Given the description of an element on the screen output the (x, y) to click on. 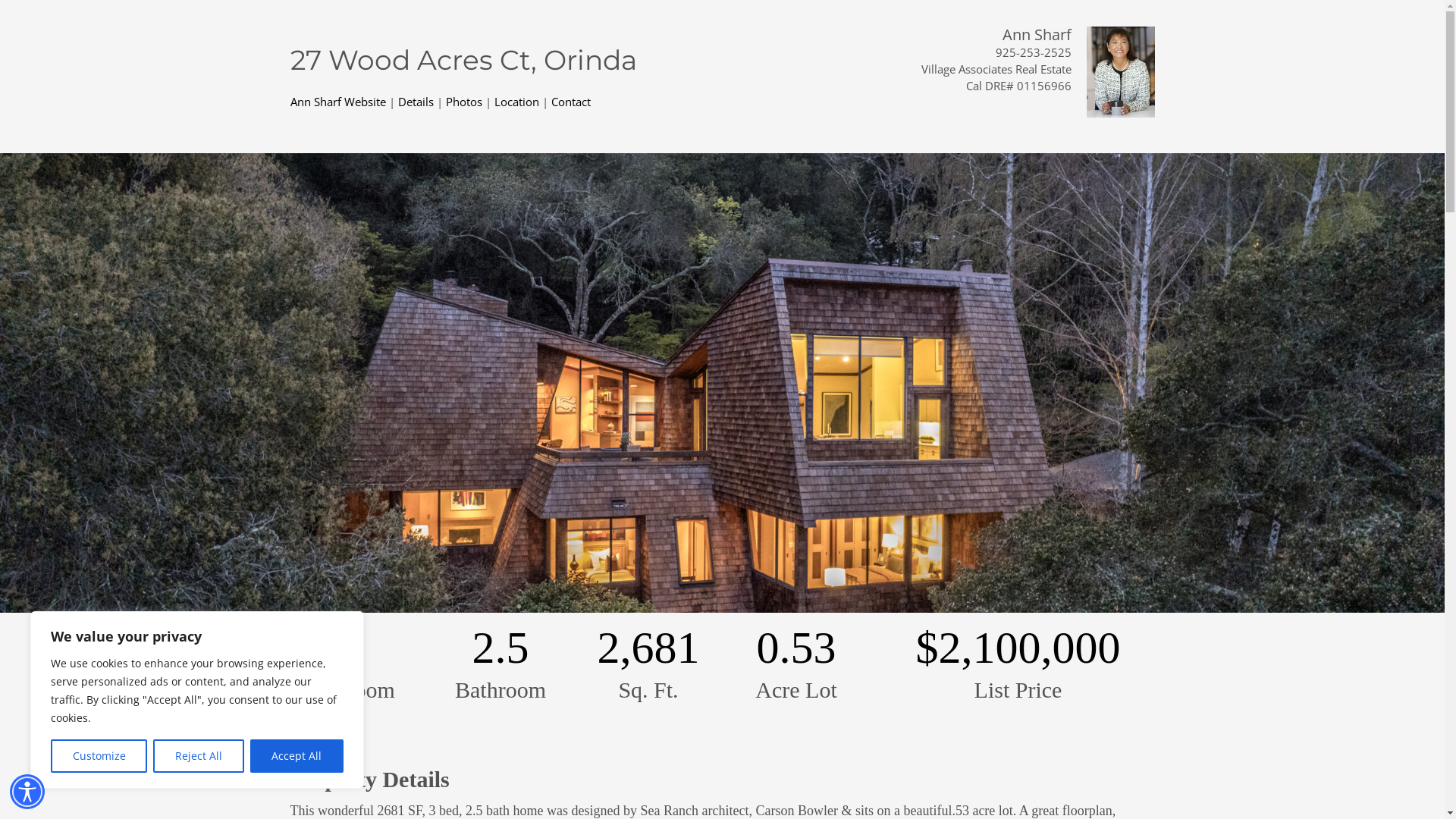
Accept All Element type: text (296, 755)
Contact Element type: text (569, 101)
Ann Sharf Website Element type: text (337, 101)
Location Element type: text (516, 101)
Customize Element type: text (98, 755)
Photos Element type: text (463, 101)
Details Element type: text (415, 101)
Reject All Element type: text (198, 755)
